Given the description of an element on the screen output the (x, y) to click on. 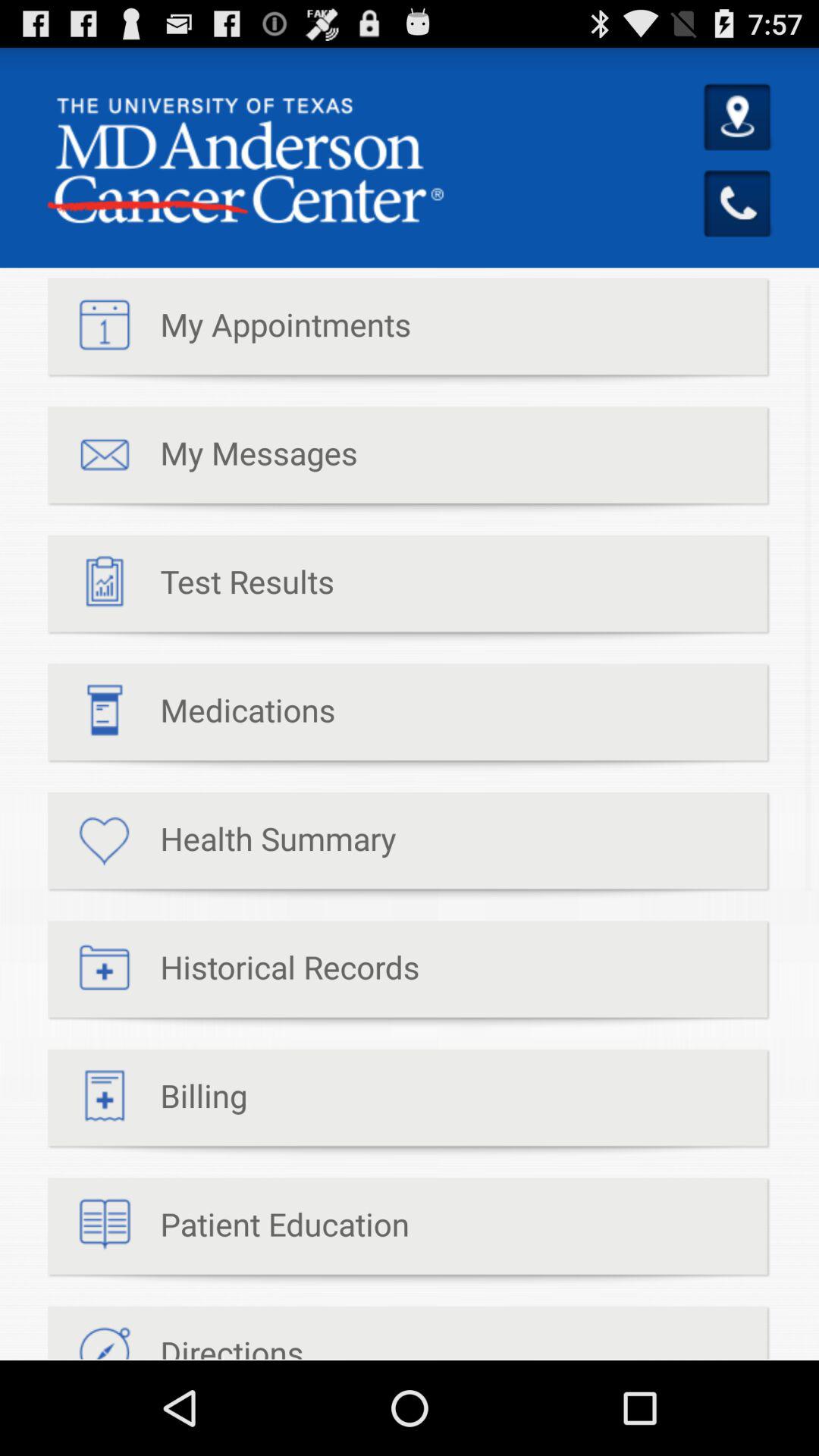
jump to billing item (147, 1103)
